Given the description of an element on the screen output the (x, y) to click on. 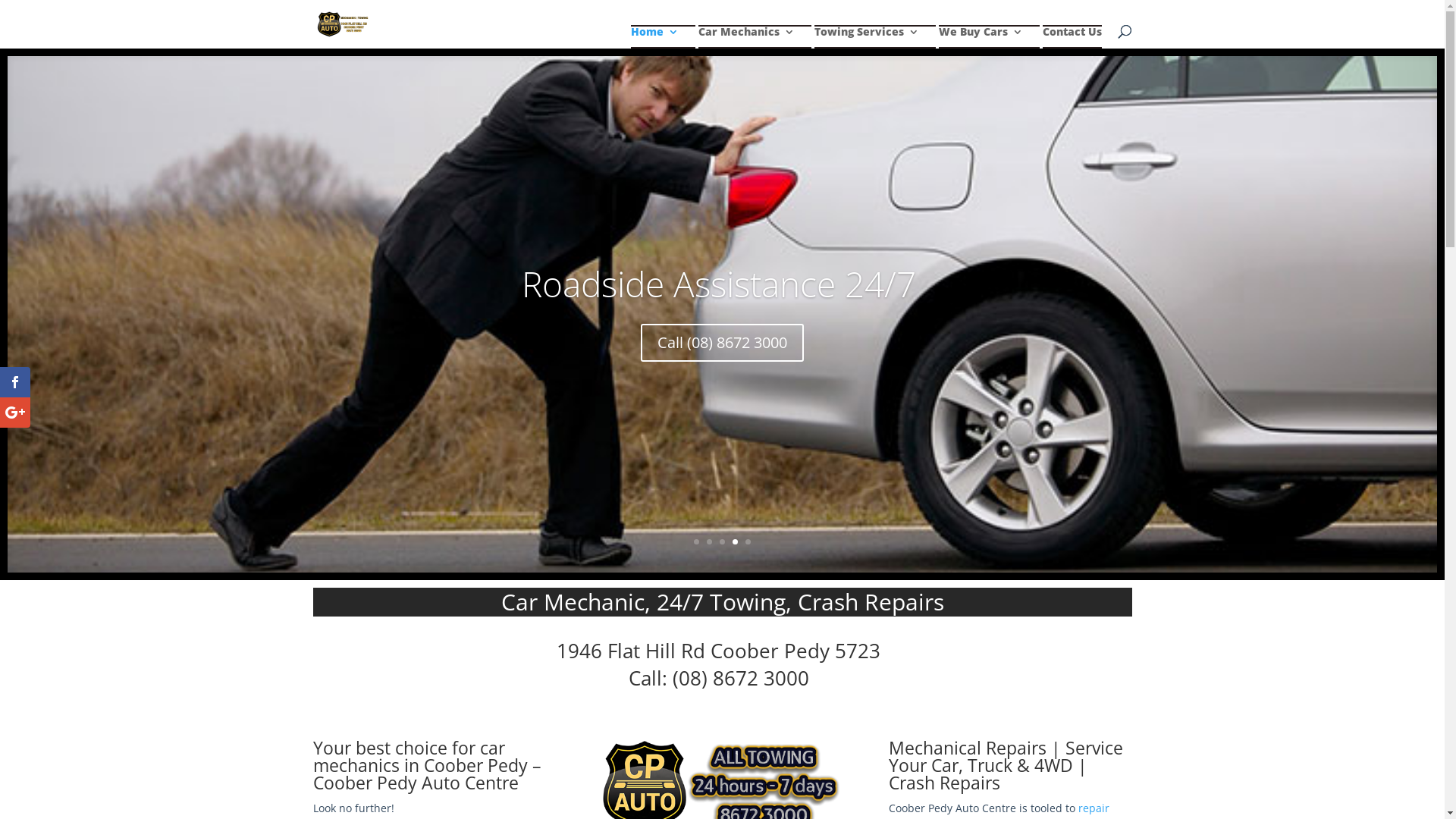
We Buy Cars Element type: text (980, 44)
Call: (08) 8672 3000 Element type: text (717, 677)
Car Mechanics Element type: text (745, 44)
5 Element type: text (747, 541)
Towing Services Element type: text (866, 44)
Home Element type: text (654, 44)
2 Element type: text (709, 541)
Call (08) 8672 3000 Element type: text (721, 342)
3 Element type: text (721, 541)
repair Element type: text (1093, 807)
4 Element type: text (734, 541)
1 Element type: text (696, 541)
Roadside Assistance 24/7 Element type: text (718, 283)
Contact Us Element type: text (1071, 44)
